Given the description of an element on the screen output the (x, y) to click on. 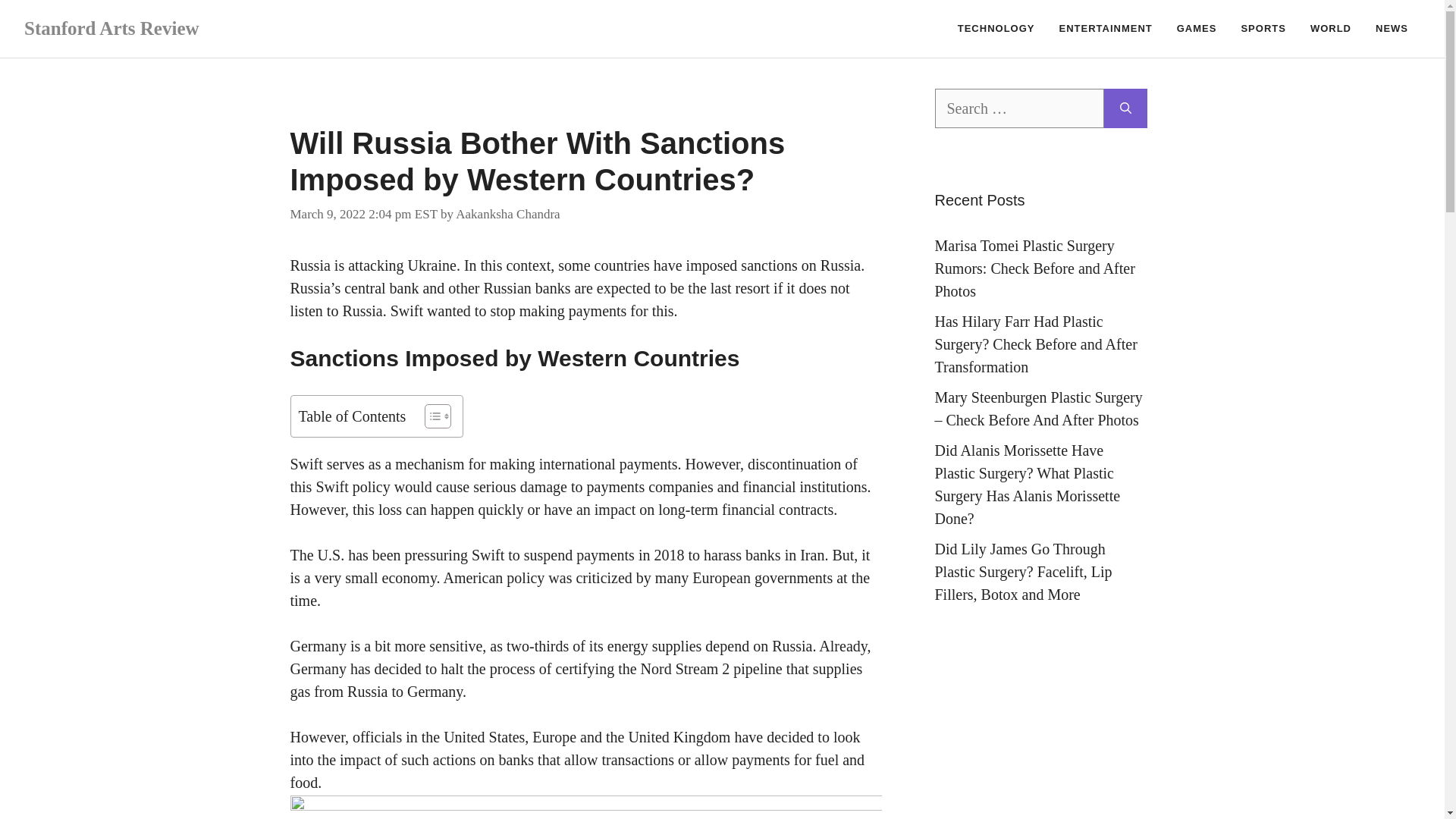
Stanford Arts Review (111, 28)
Search for: (1018, 107)
NEWS (1391, 28)
GAMES (1196, 28)
TECHNOLOGY (995, 28)
WORLD (1330, 28)
View all posts by Aakanksha Chandra (507, 213)
